Given the description of an element on the screen output the (x, y) to click on. 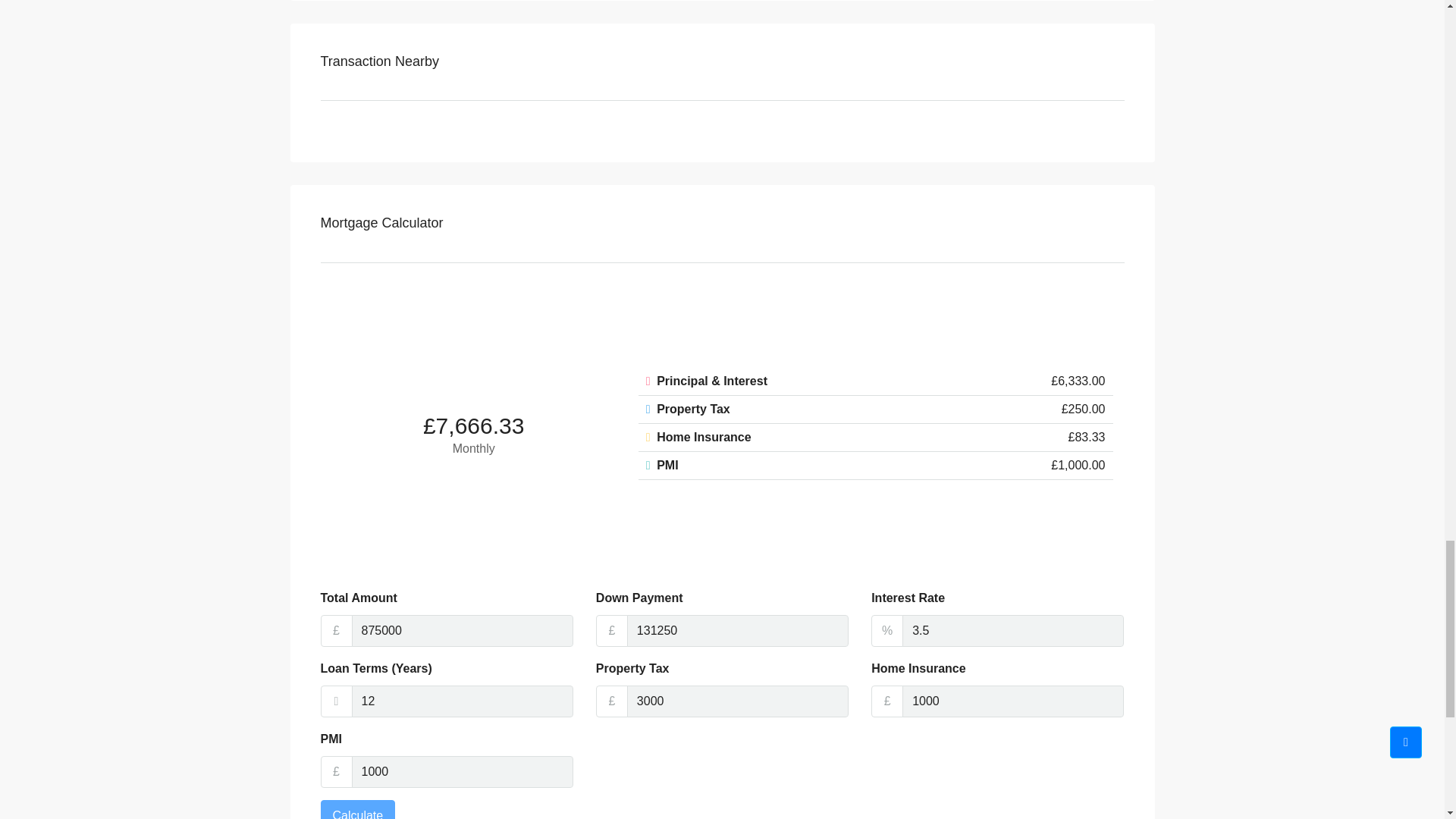
875000 (462, 631)
3.5 (1013, 631)
131250 (737, 631)
3000 (737, 701)
12 (462, 701)
1000 (462, 771)
1000 (1013, 701)
